Given the description of an element on the screen output the (x, y) to click on. 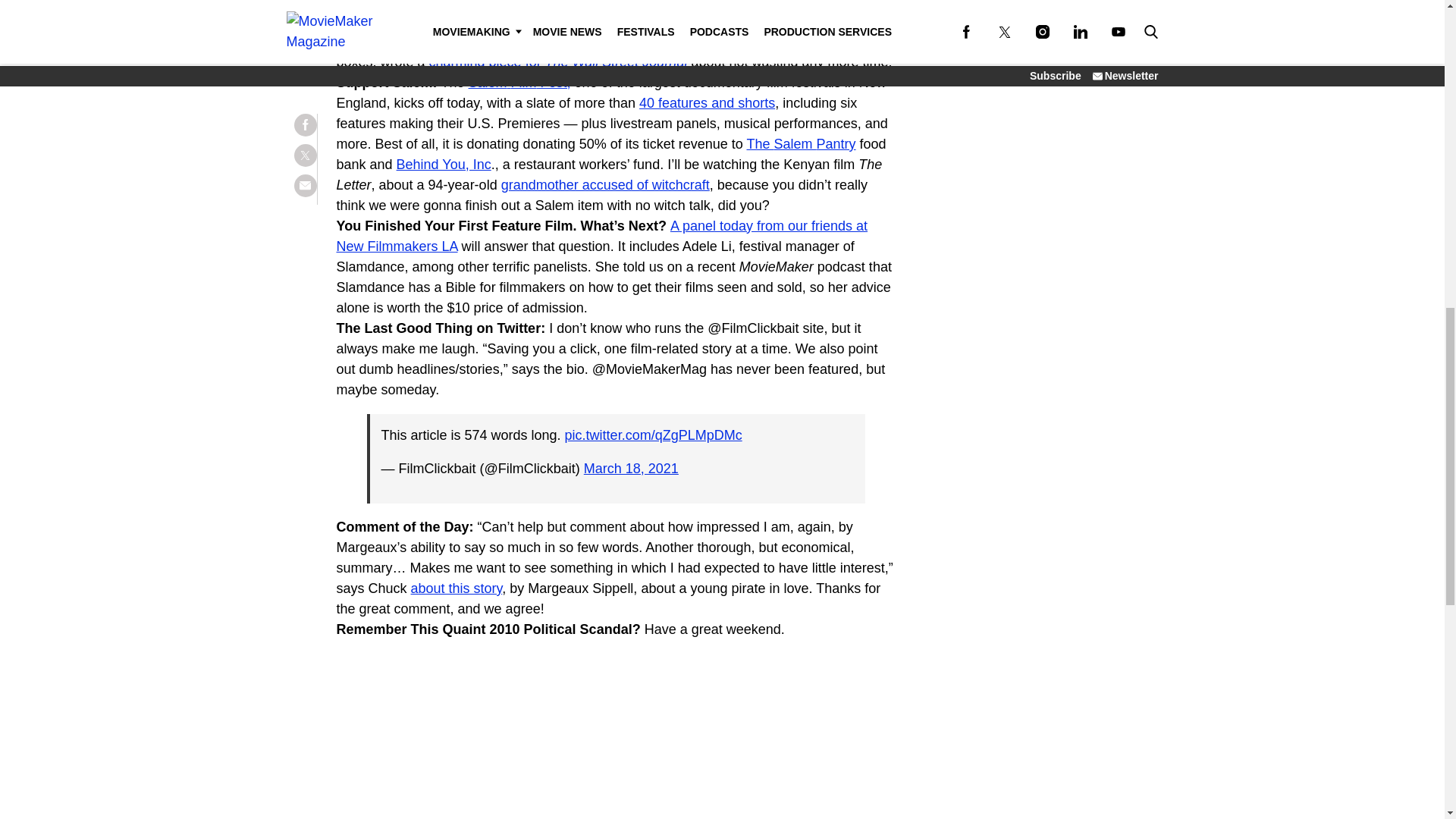
40 features and shorts (706, 102)
Salem Film Fest, (519, 82)
The Salem Pantry (800, 143)
Songify This - I'M NOT A WITCH - sung by Christine O'Donnell (526, 736)
Behind You, Inc (444, 164)
grandmother accused of witchcraft (605, 184)
charming piece for The Wall Street Journal (558, 61)
